Given the description of an element on the screen output the (x, y) to click on. 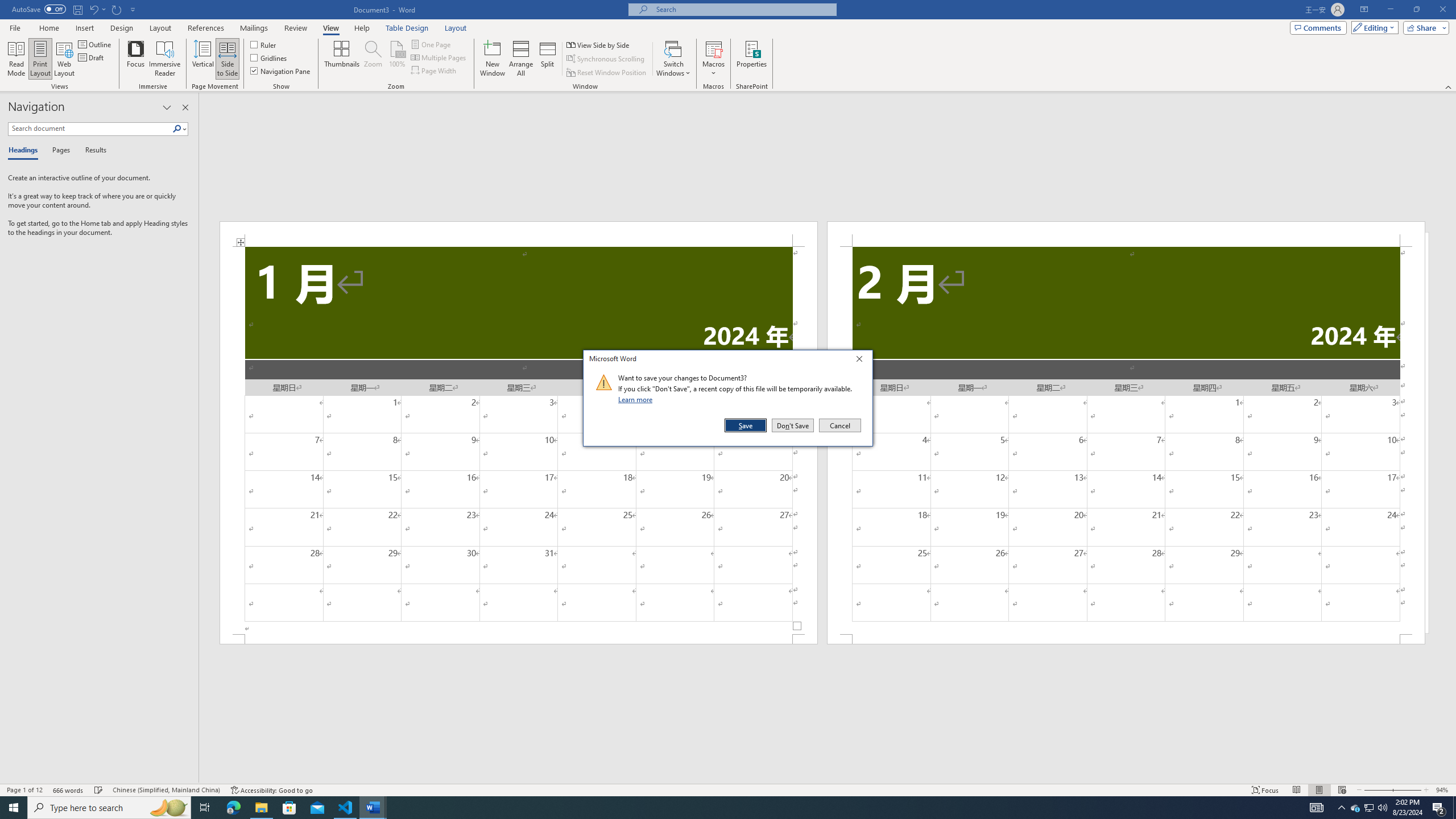
Don't Save (792, 425)
Outline (95, 44)
Learn more (636, 399)
Arrange All (521, 58)
Reset Window Position (606, 72)
